Given the description of an element on the screen output the (x, y) to click on. 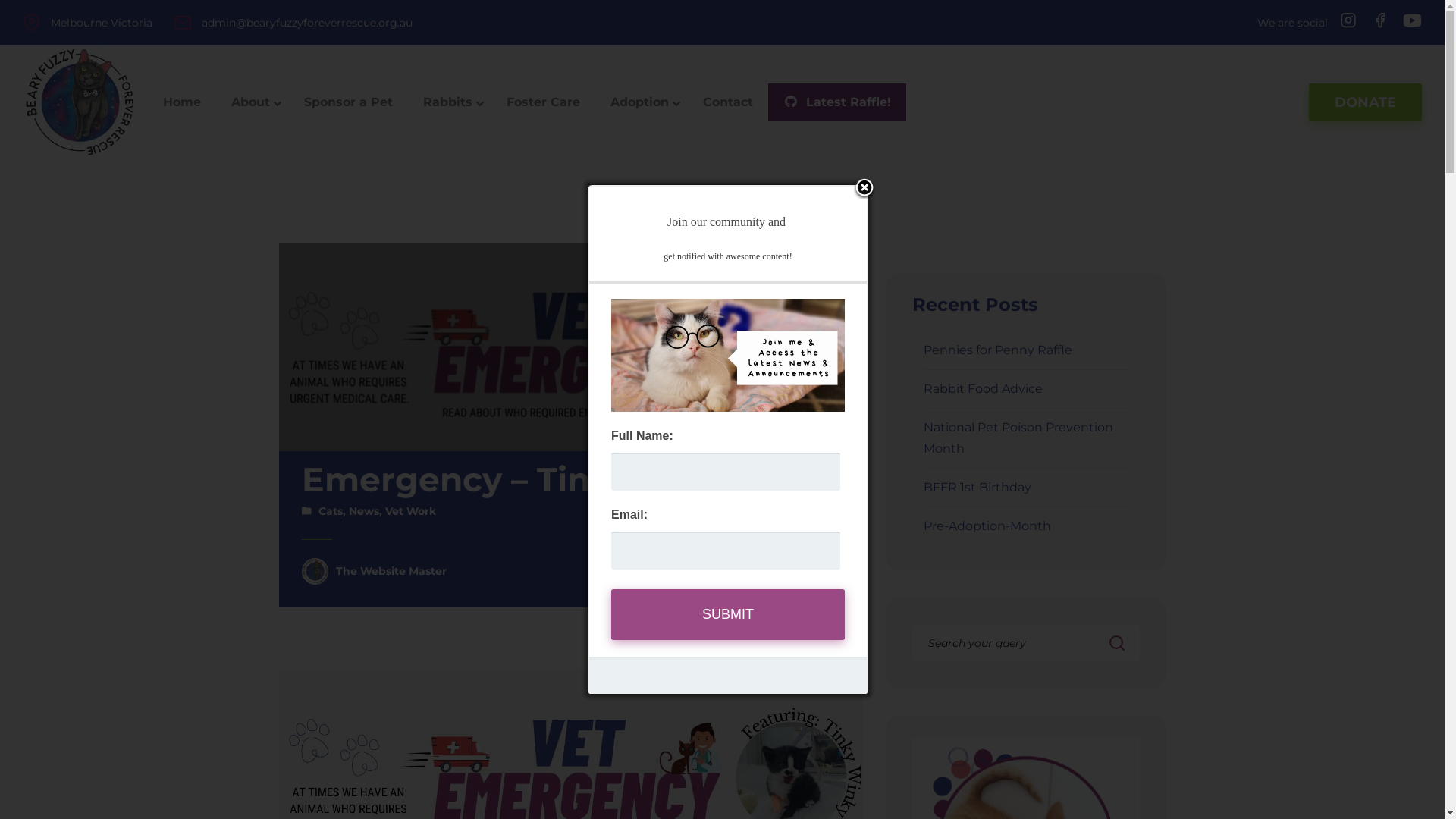
BFFR 1st Birthday Element type: text (977, 487)
Cats Element type: text (330, 510)
Pennies for Penny Raffle Element type: text (997, 349)
Pre-Adoption-Month Element type: text (987, 525)
News Element type: text (363, 510)
Vet Work Element type: text (410, 510)
Home Element type: text (181, 102)
National Pet Poison Prevention Month Element type: text (1018, 437)
Contact Element type: text (727, 102)
The Website Master Element type: text (390, 570)
No Comments Element type: text (799, 570)
Facebook Element type: hover (1379, 19)
Youtube Element type: hover (1409, 21)
admin@bearyfuzzyforeverrescue.org.au Element type: text (306, 22)
Adoption Element type: text (641, 102)
About Element type: text (252, 102)
Latest Raffle! Element type: text (837, 102)
Instagram Element type: hover (1347, 19)
Foster Care Element type: text (543, 102)
Sponsor a Pet Element type: text (347, 102)
Rabbit Food Advice Element type: text (982, 388)
Submit Element type: text (727, 614)
Beary Fuzzy Forever Rescue Element type: hover (79, 101)
DONATE Element type: text (1364, 102)
